Given the description of an element on the screen output the (x, y) to click on. 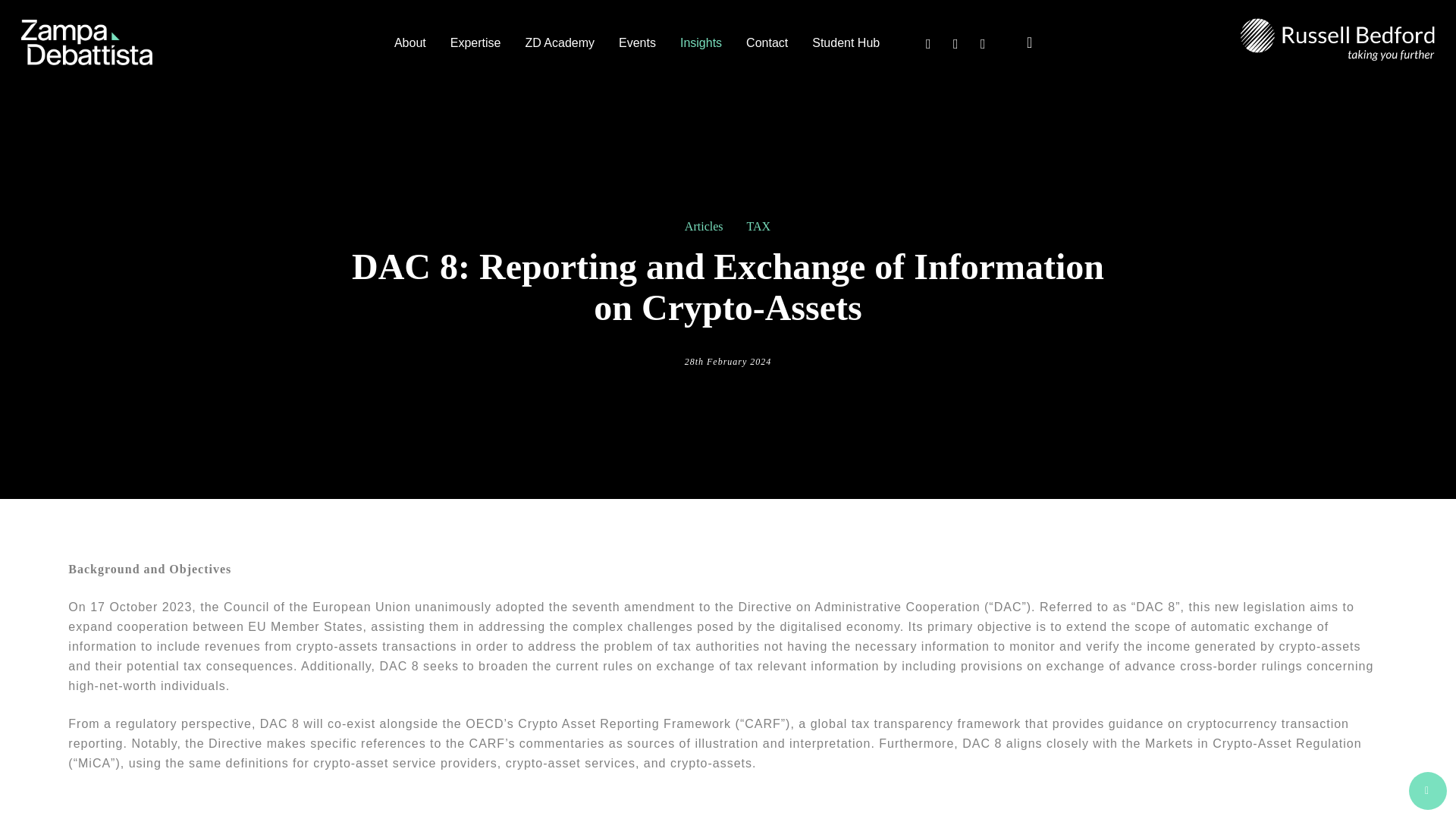
facebook (928, 41)
Articles (703, 225)
Expertise (475, 42)
About (409, 42)
Events (637, 42)
search (1029, 42)
linkedin (955, 41)
instagram (982, 41)
Student Hub (845, 42)
Insights (700, 42)
